Given the description of an element on the screen output the (x, y) to click on. 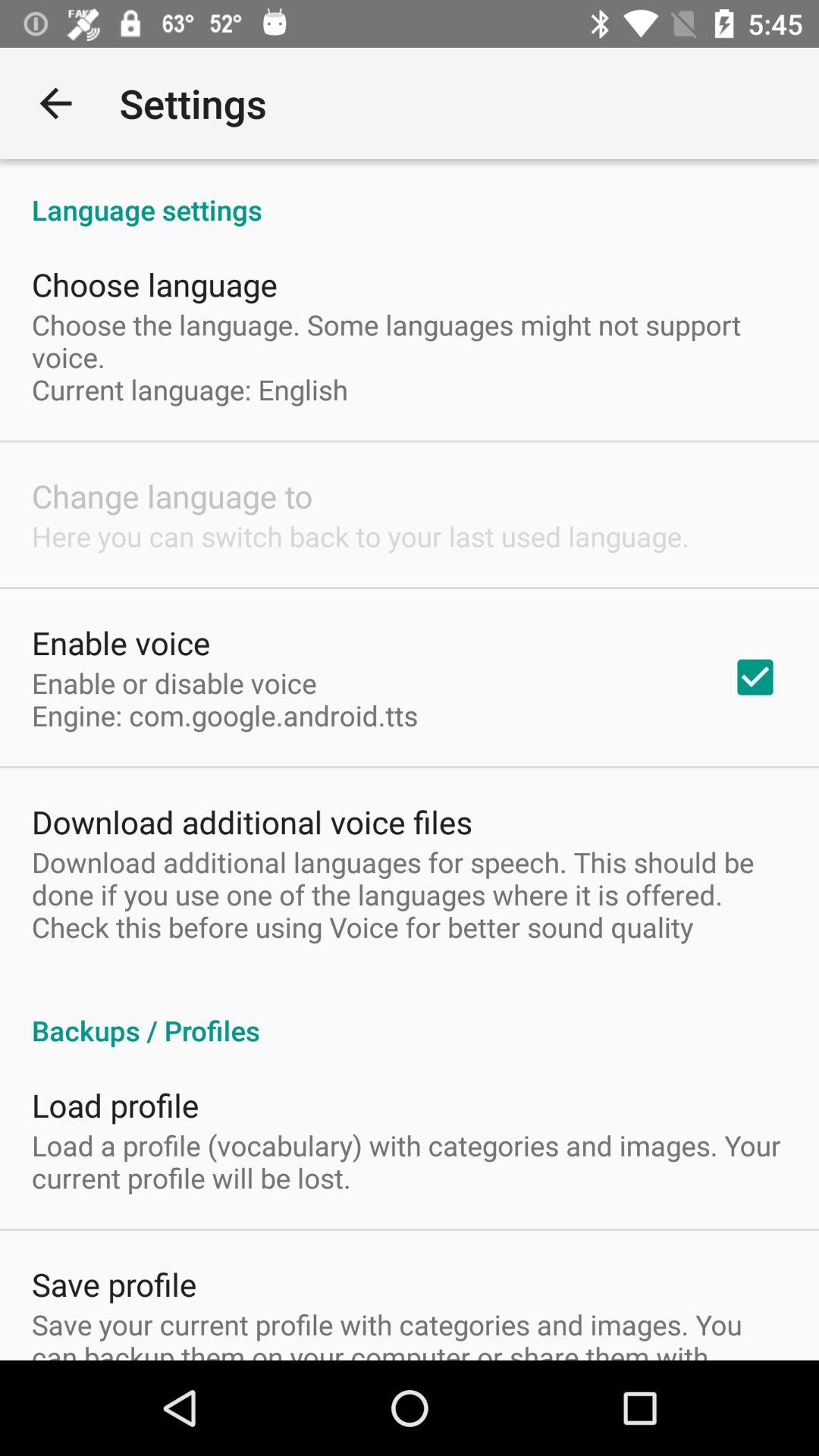
select item above choose language (409, 193)
